Given the description of an element on the screen output the (x, y) to click on. 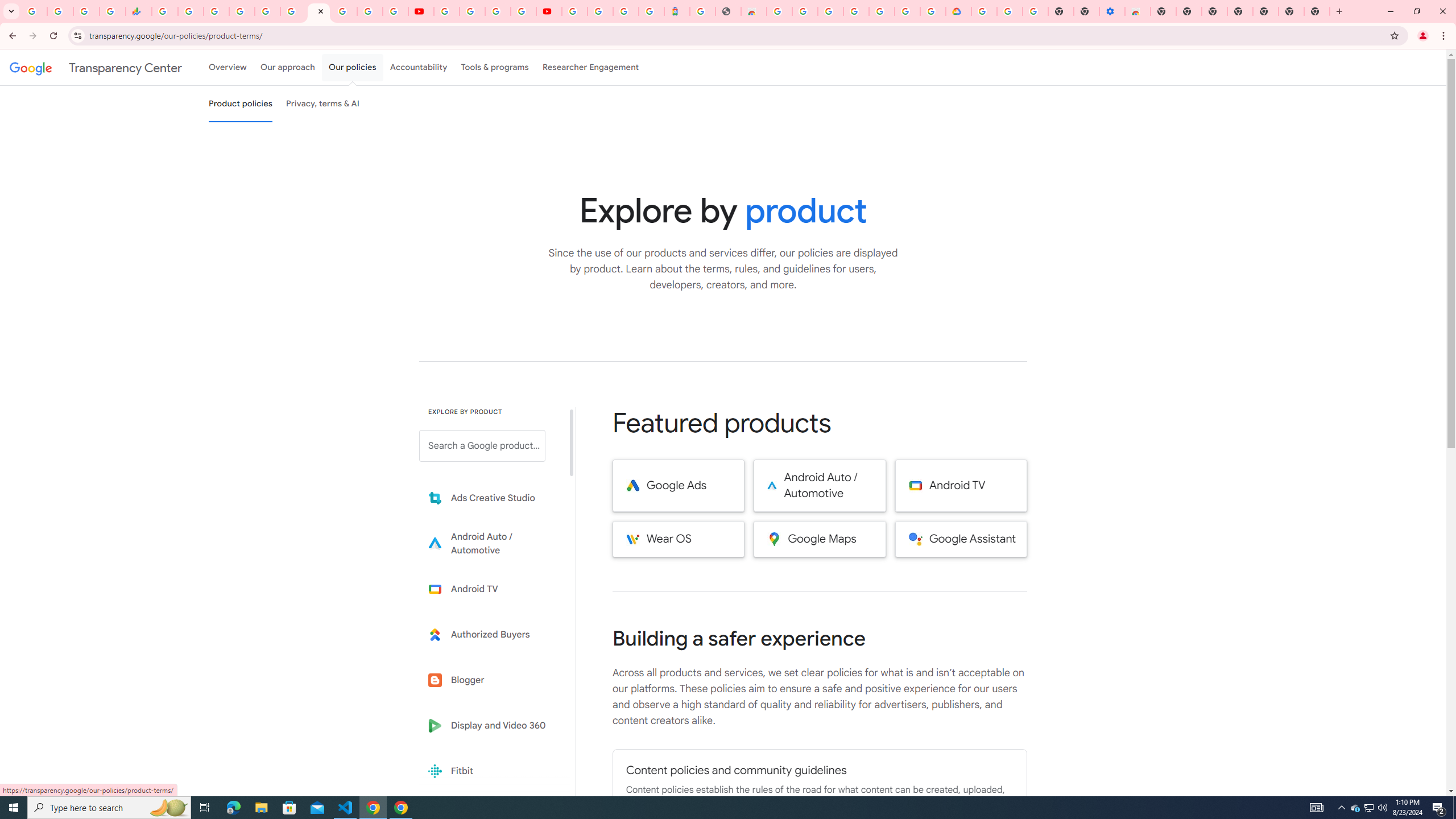
Learn more about Ads Creative Studio (490, 497)
